Given the description of an element on the screen output the (x, y) to click on. 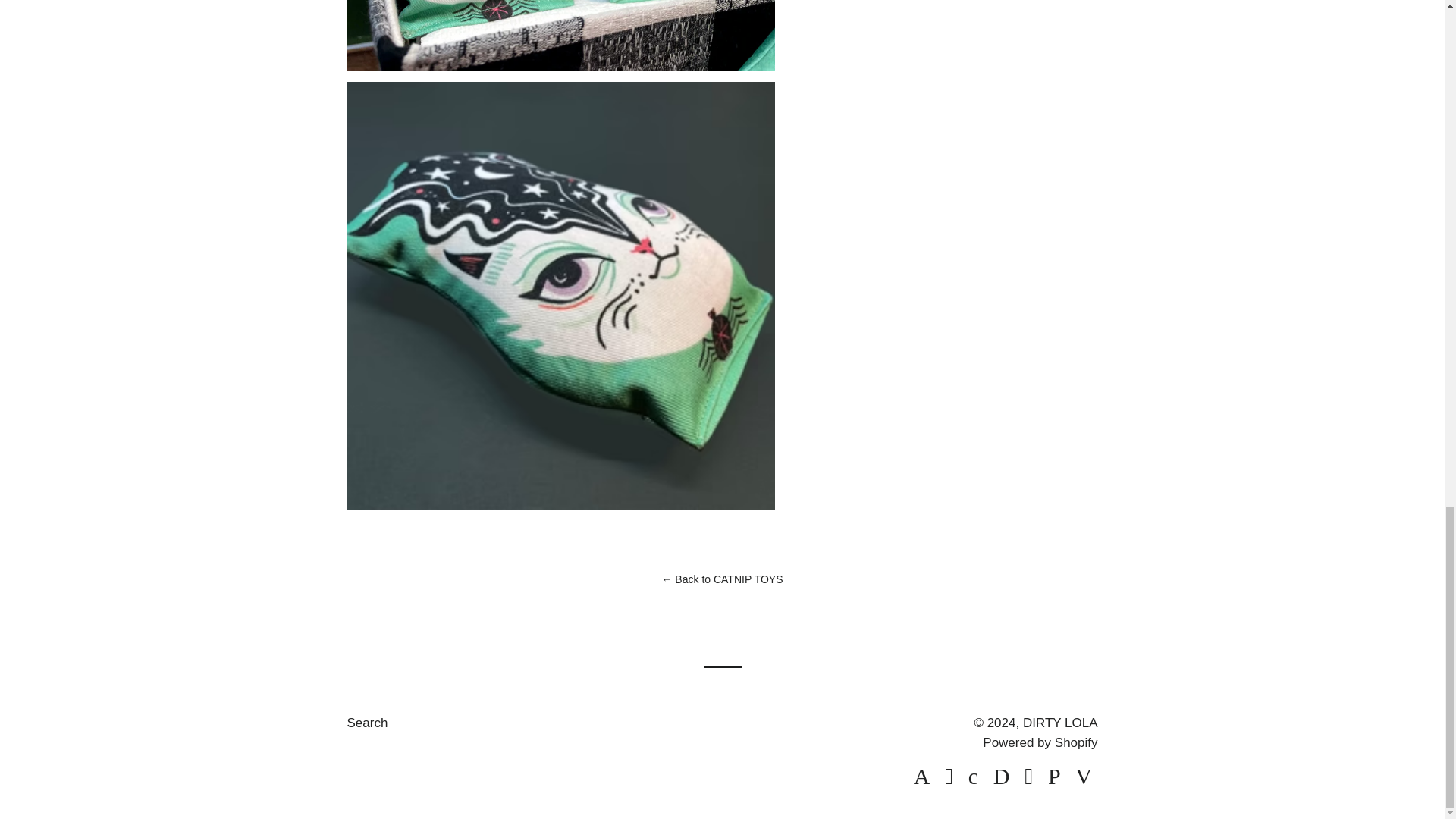
Powered by Shopify (1039, 742)
Search (367, 722)
DIRTY LOLA (1060, 722)
